Given the description of an element on the screen output the (x, y) to click on. 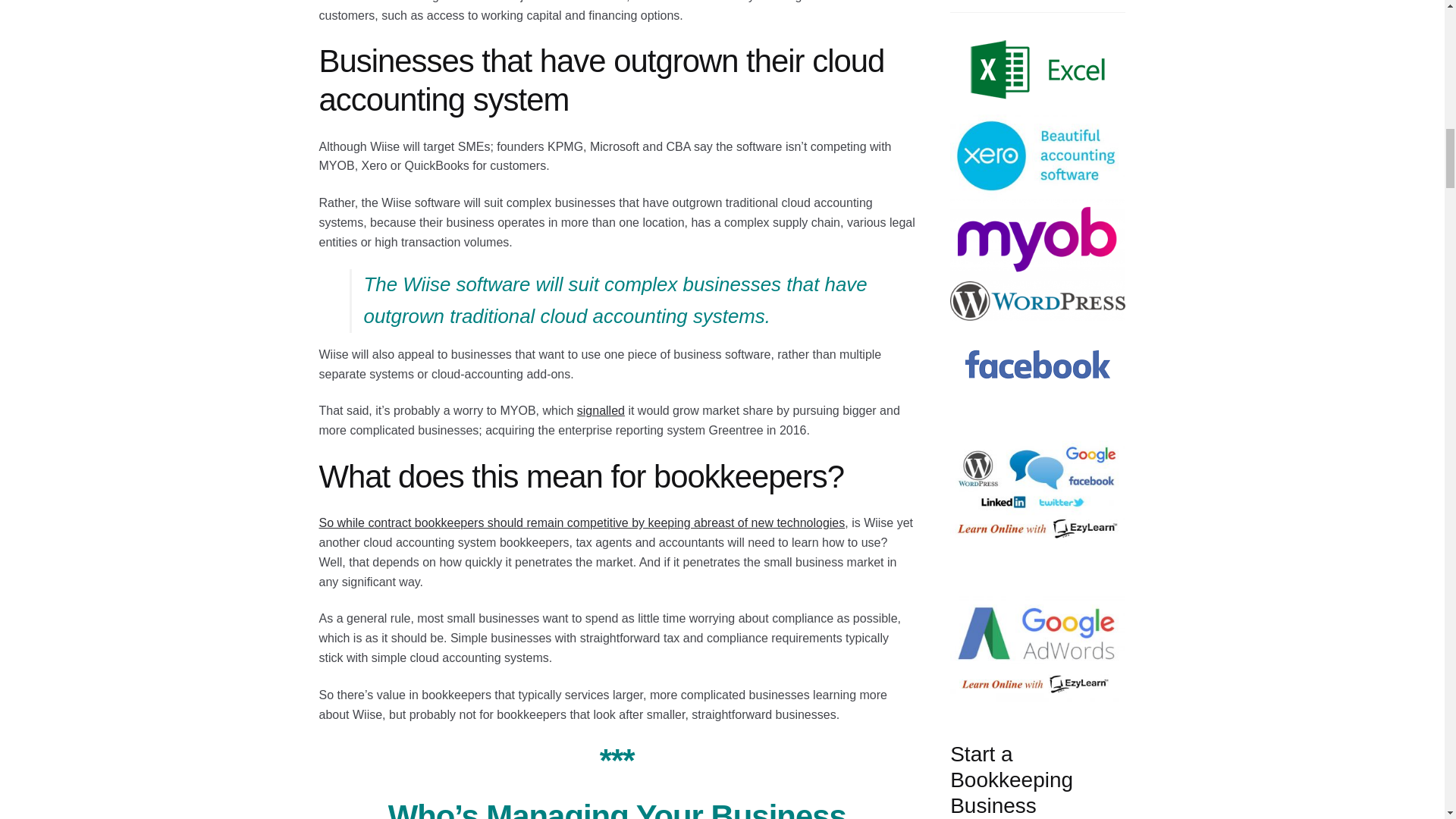
signalled (600, 410)
